Given the description of an element on the screen output the (x, y) to click on. 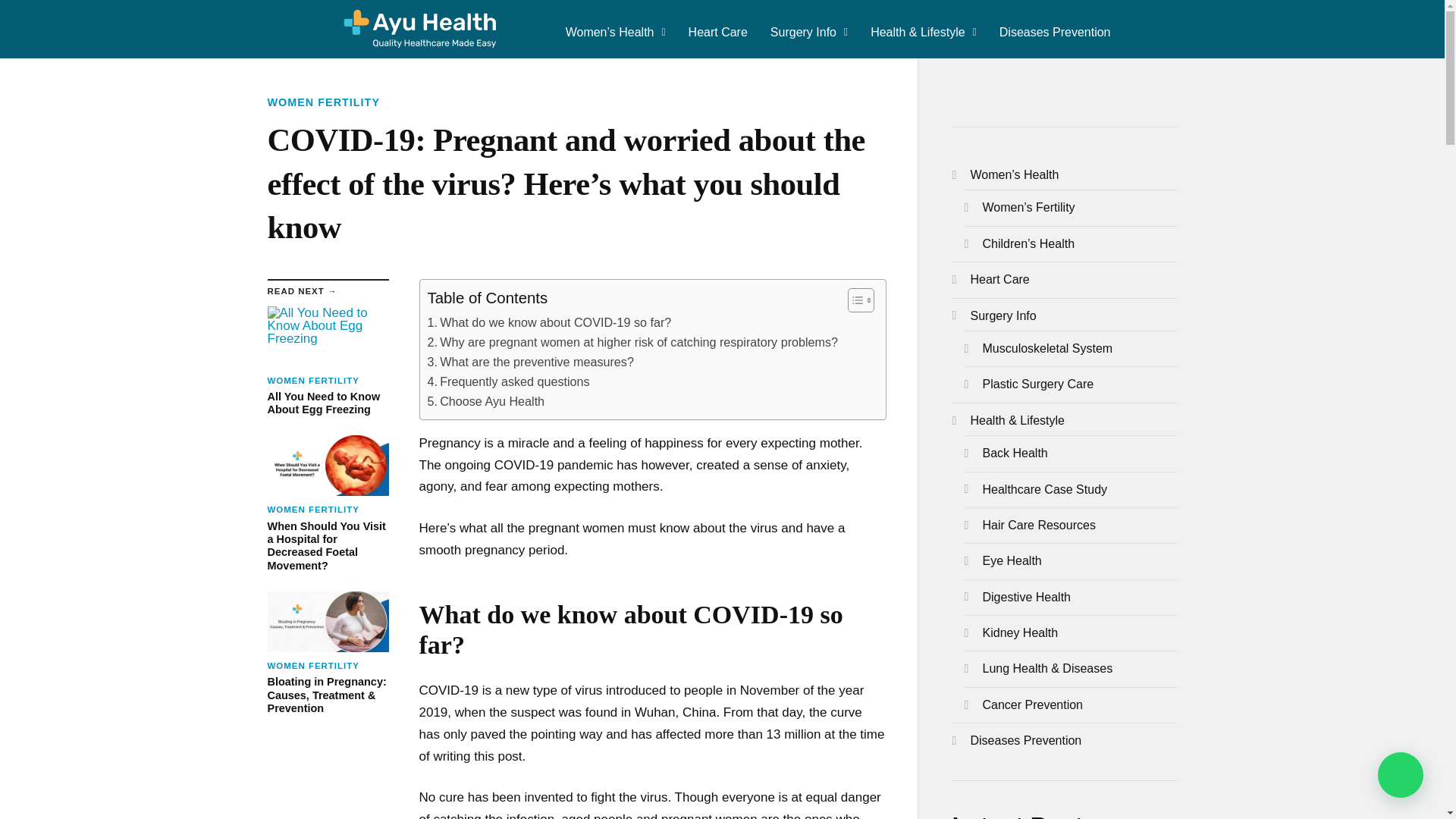
Diseases Prevention (327, 361)
WOMEN FERTILITY (1055, 32)
What do we know about COVID-19 so far? (323, 102)
Choose Ayu Health (549, 322)
All You Need to Know About Egg Freezing 1 (486, 401)
What are the preventive measures? (327, 336)
Ayu-health-white (530, 362)
Choose Ayu Health (418, 28)
Frequently asked questions (486, 401)
What do we know about COVID-19 so far? (508, 382)
Frequently asked questions (549, 322)
